Given the description of an element on the screen output the (x, y) to click on. 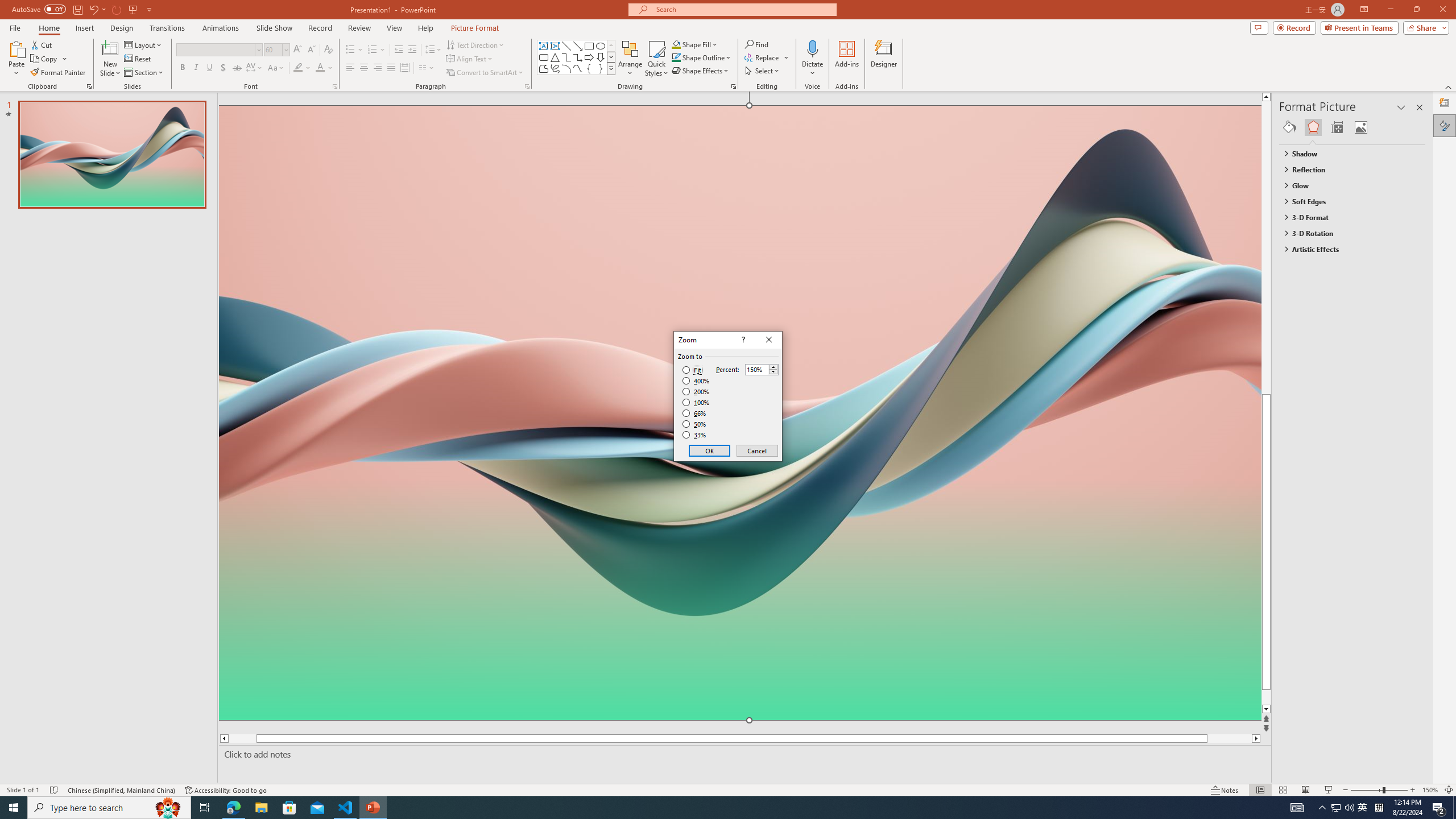
Soft Edges (1347, 201)
50% (694, 424)
